Given the description of an element on the screen output the (x, y) to click on. 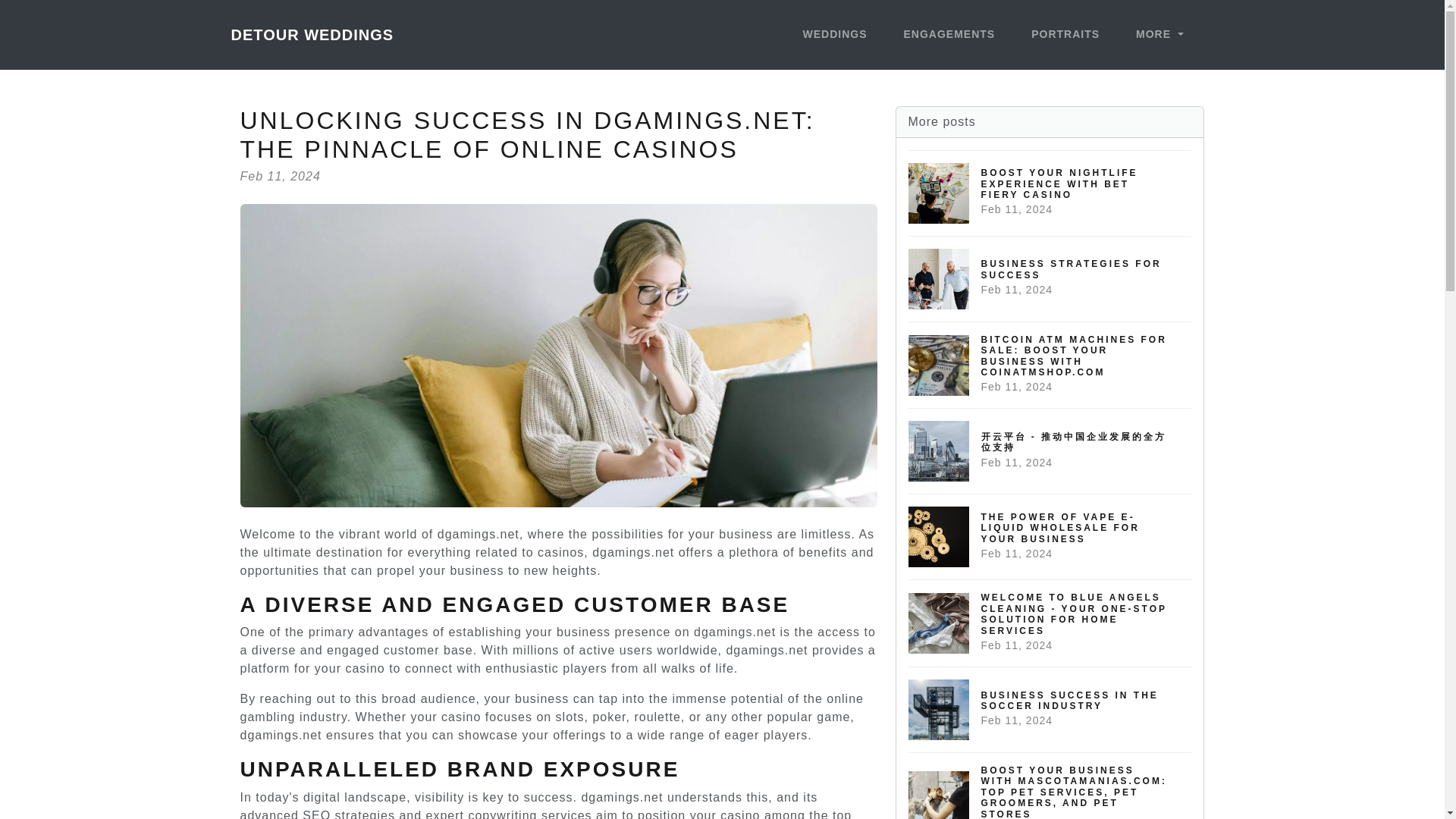
ENGAGEMENTS (1050, 278)
MORE (948, 34)
DETOUR WEDDINGS (1159, 34)
PORTRAITS (1050, 709)
WEDDINGS (311, 34)
